Given the description of an element on the screen output the (x, y) to click on. 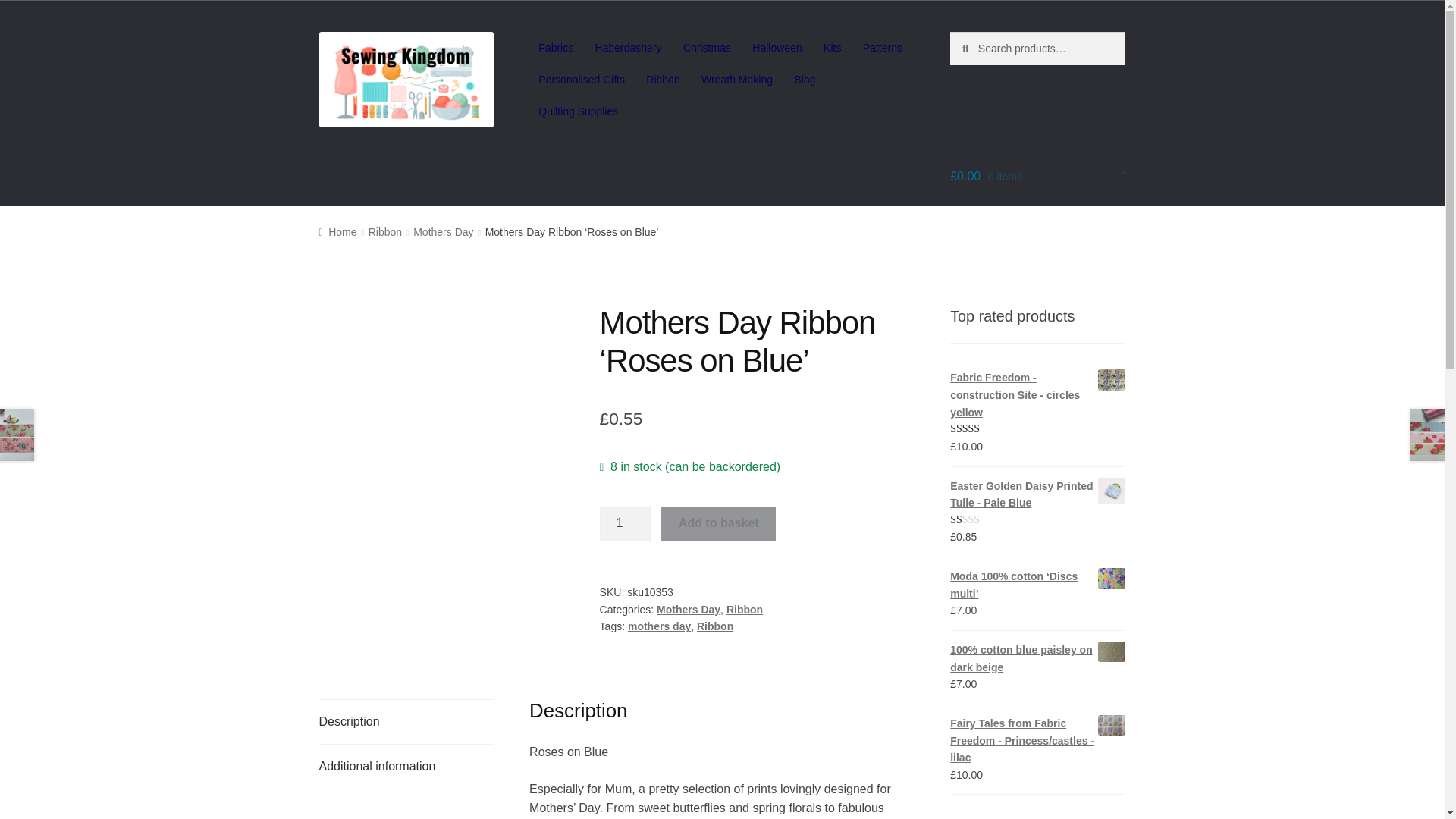
Add to basket (718, 523)
Kits (831, 47)
1 (624, 523)
Home (337, 232)
Mothers Day (688, 609)
Mothers Day (443, 232)
Haberdashery (627, 47)
Blog (804, 79)
Wreath Making (737, 79)
